Given the description of an element on the screen output the (x, y) to click on. 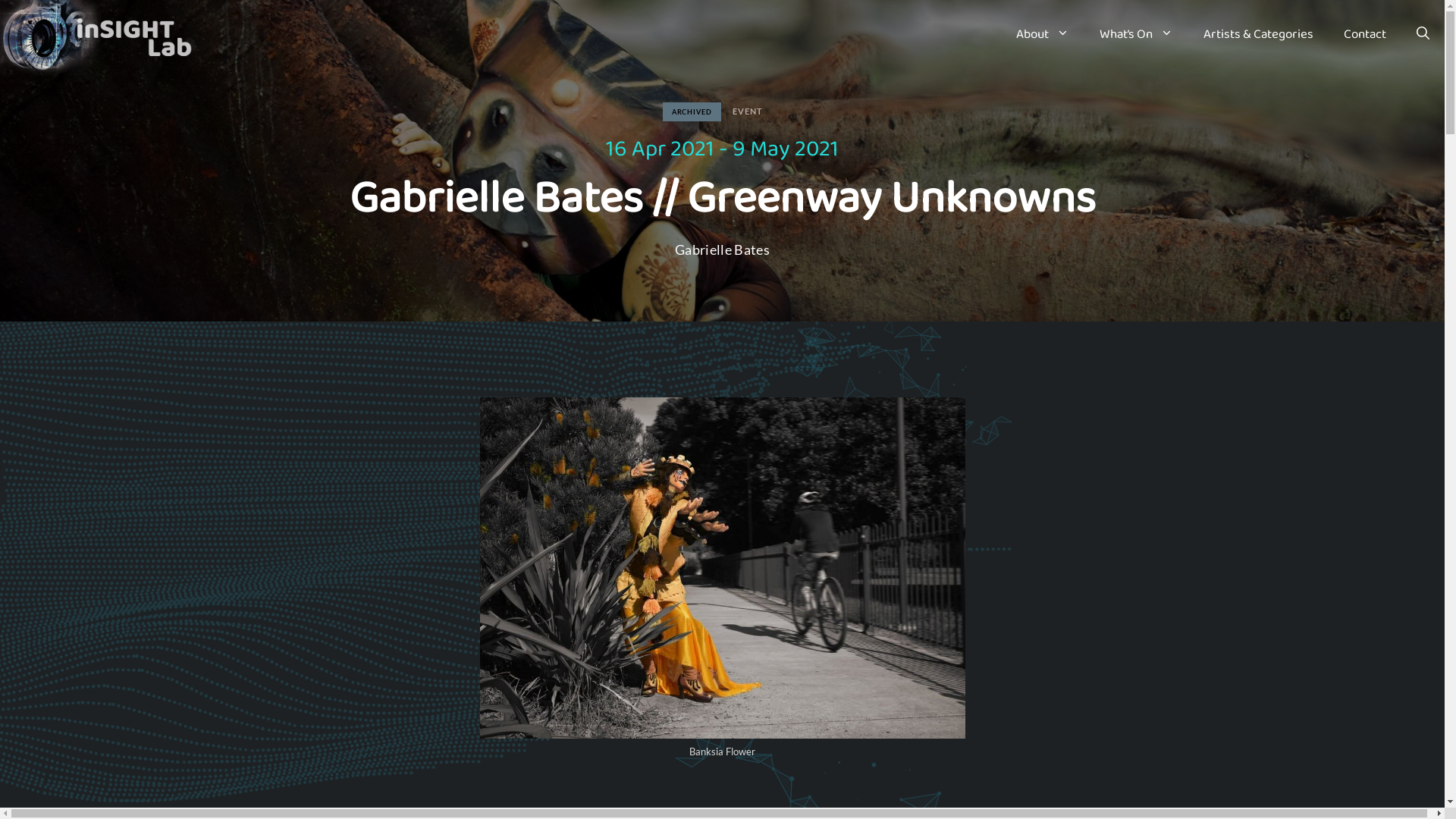
Contact Element type: text (1364, 37)
EVENT Element type: text (753, 111)
Search Element type: text (1097, 413)
inSIGHT Lab Element type: hover (103, 37)
Artists & Categories Element type: text (1258, 37)
Gabrielle Bates Element type: text (722, 249)
About Element type: text (1042, 37)
ARCHIVED Element type: text (691, 111)
